Given the description of an element on the screen output the (x, y) to click on. 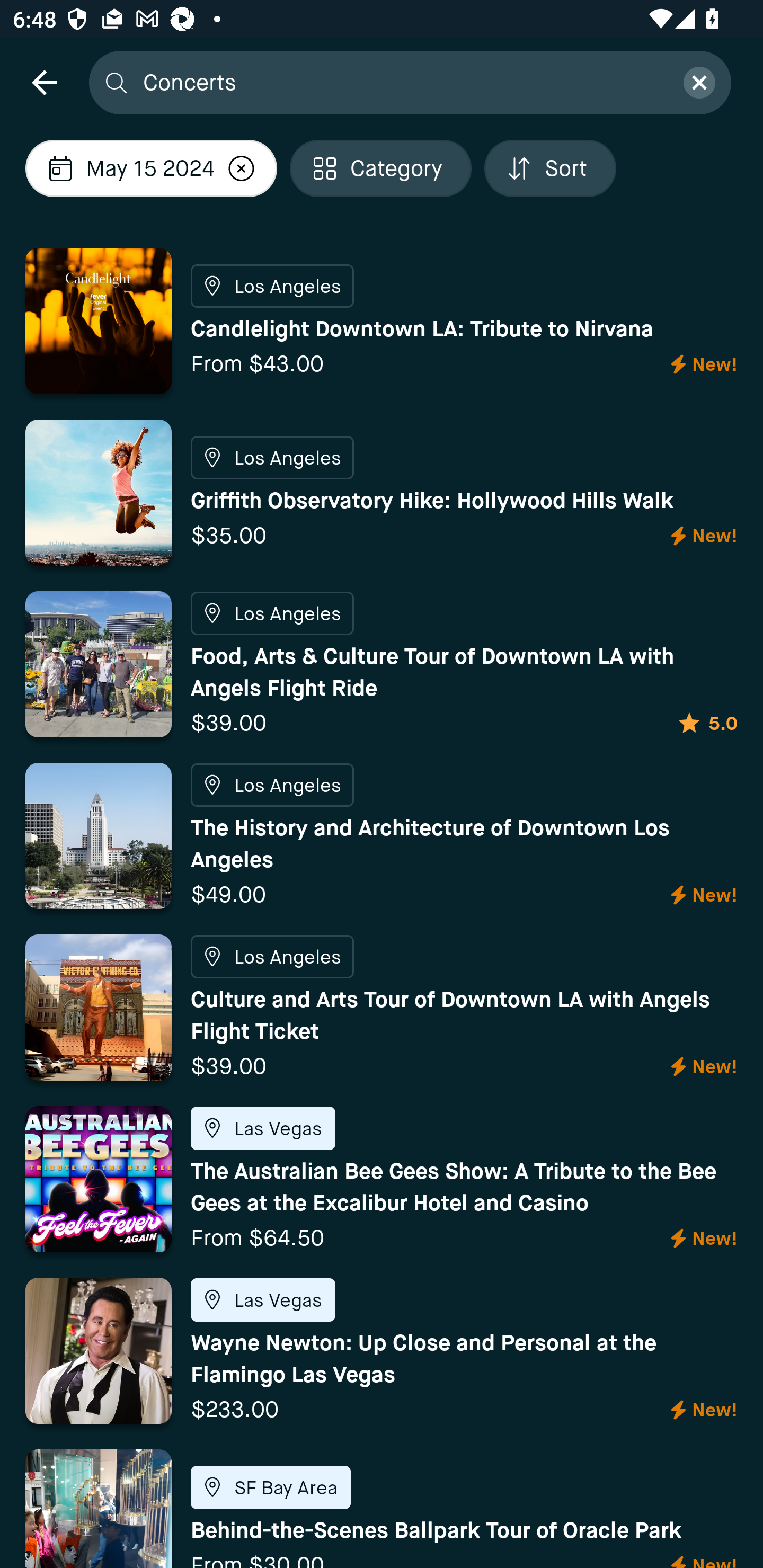
navigation icon (44, 81)
Concerts (402, 81)
Localized description (241, 168)
Localized description Category (380, 168)
Localized description Sort (550, 168)
